Given the description of an element on the screen output the (x, y) to click on. 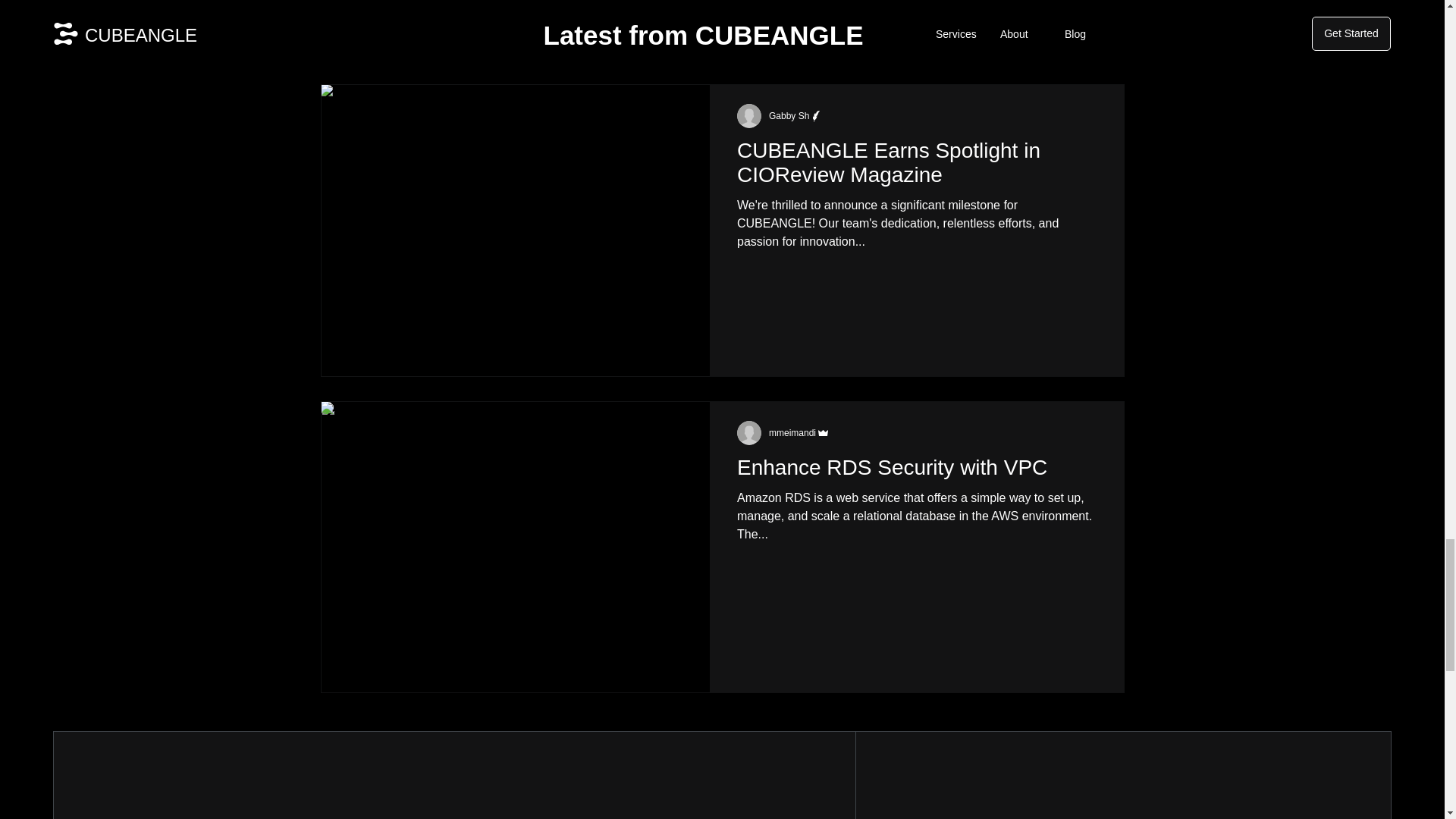
Enhance RDS Security with VPC (916, 471)
Gabby Sh (788, 115)
CUBEANGLE Earns Spotlight in CIOReview Magazine (916, 167)
mmeimandi (791, 432)
